Given the description of an element on the screen output the (x, y) to click on. 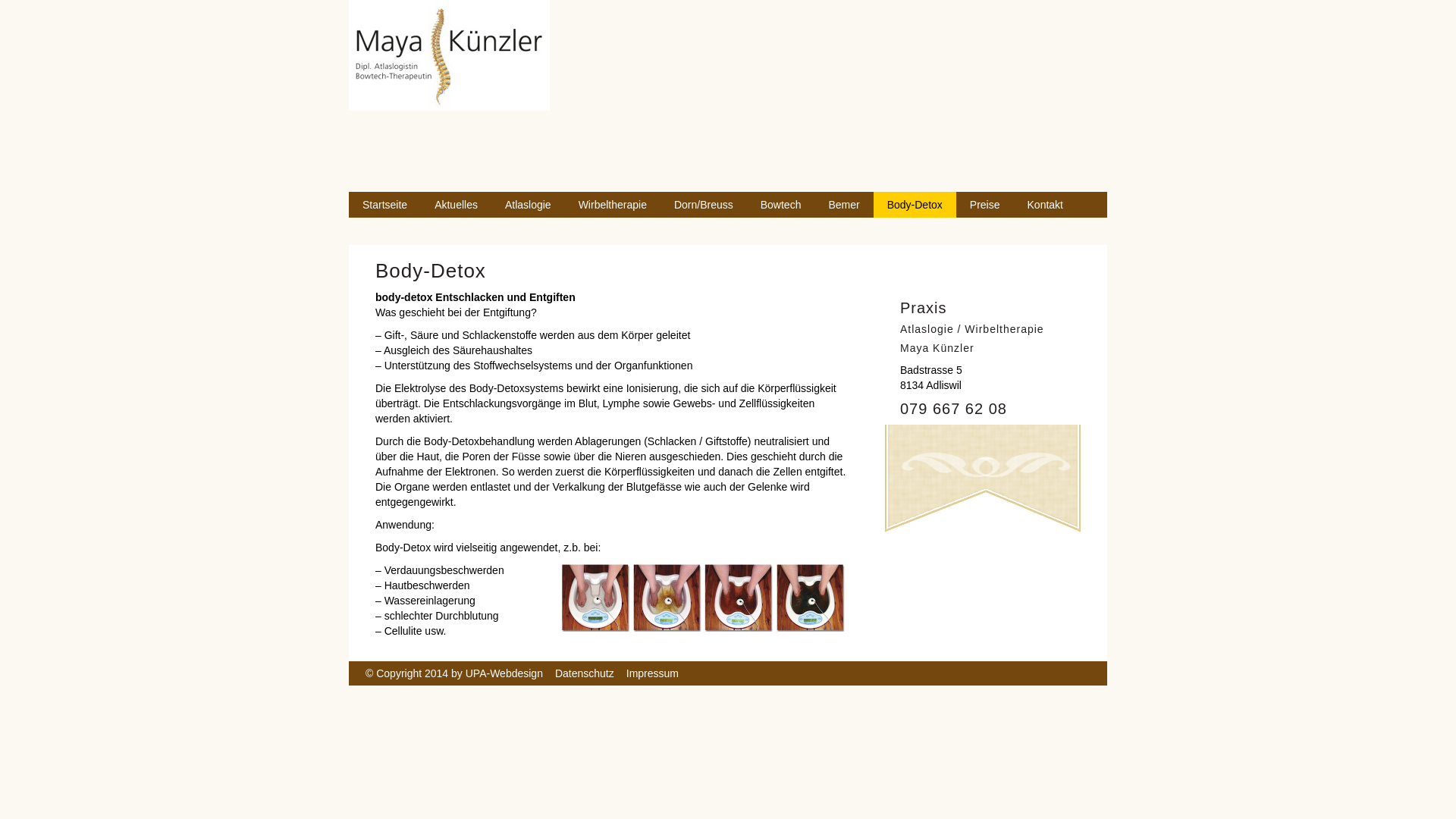
Dorn/Breuss Element type: text (703, 204)
Aktuelles Element type: text (455, 204)
Wirbeltherapie Element type: text (612, 204)
Bowtech Element type: text (780, 204)
Startseite Element type: text (384, 204)
Bemer Element type: text (843, 204)
Datenschutz Element type: text (584, 673)
Preise Element type: text (984, 204)
Impressum Element type: text (652, 673)
Kontakt Element type: text (1044, 204)
Body-Detox Element type: text (914, 204)
Atlaslogie Element type: text (527, 204)
UPA-Webdesign Element type: text (503, 673)
